Given the description of an element on the screen output the (x, y) to click on. 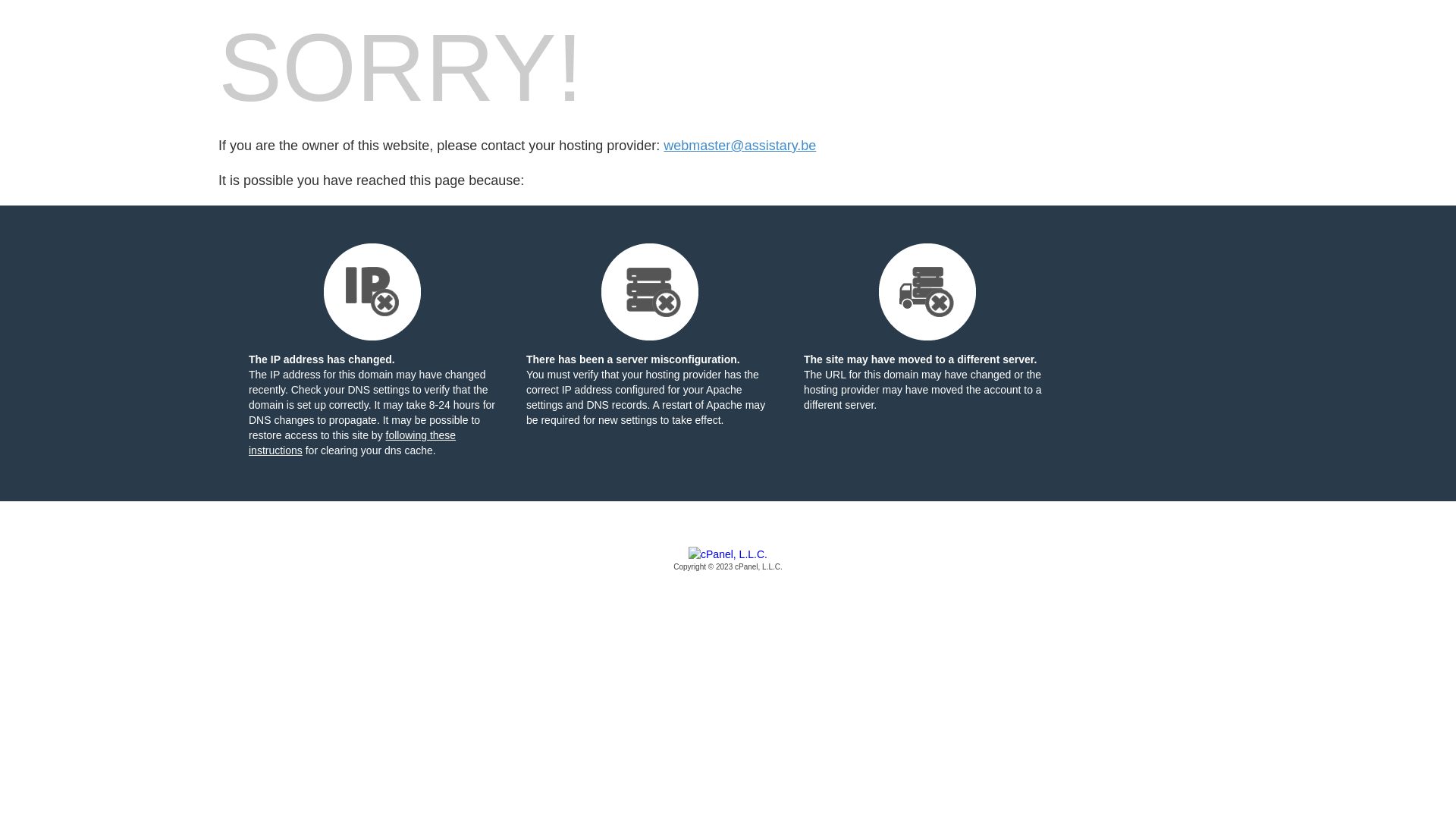
following these instructions Element type: text (351, 442)
webmaster@assistary.be Element type: text (739, 145)
